Given the description of an element on the screen output the (x, y) to click on. 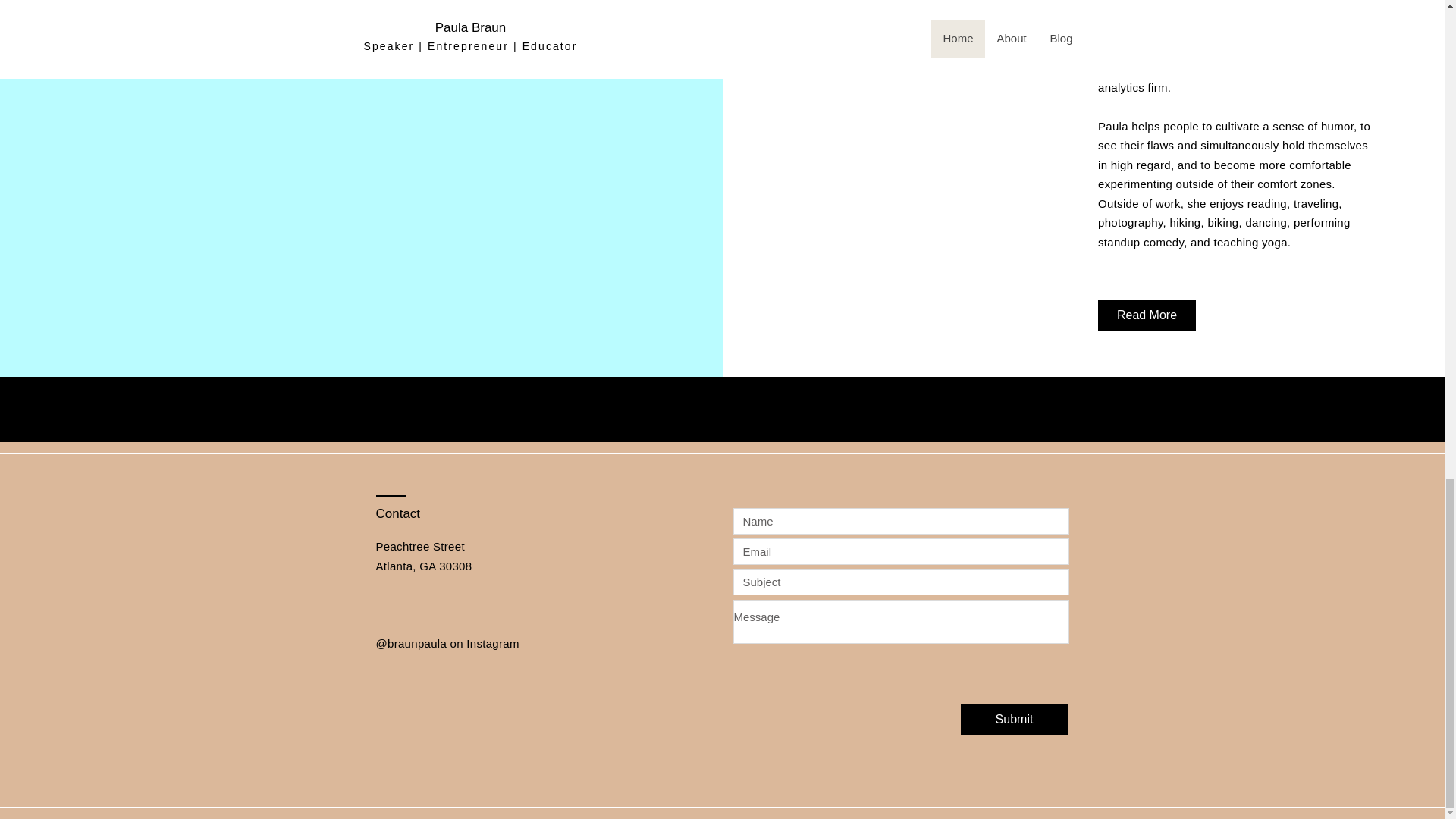
Read More (1146, 315)
Submit (1013, 719)
